Given the description of an element on the screen output the (x, y) to click on. 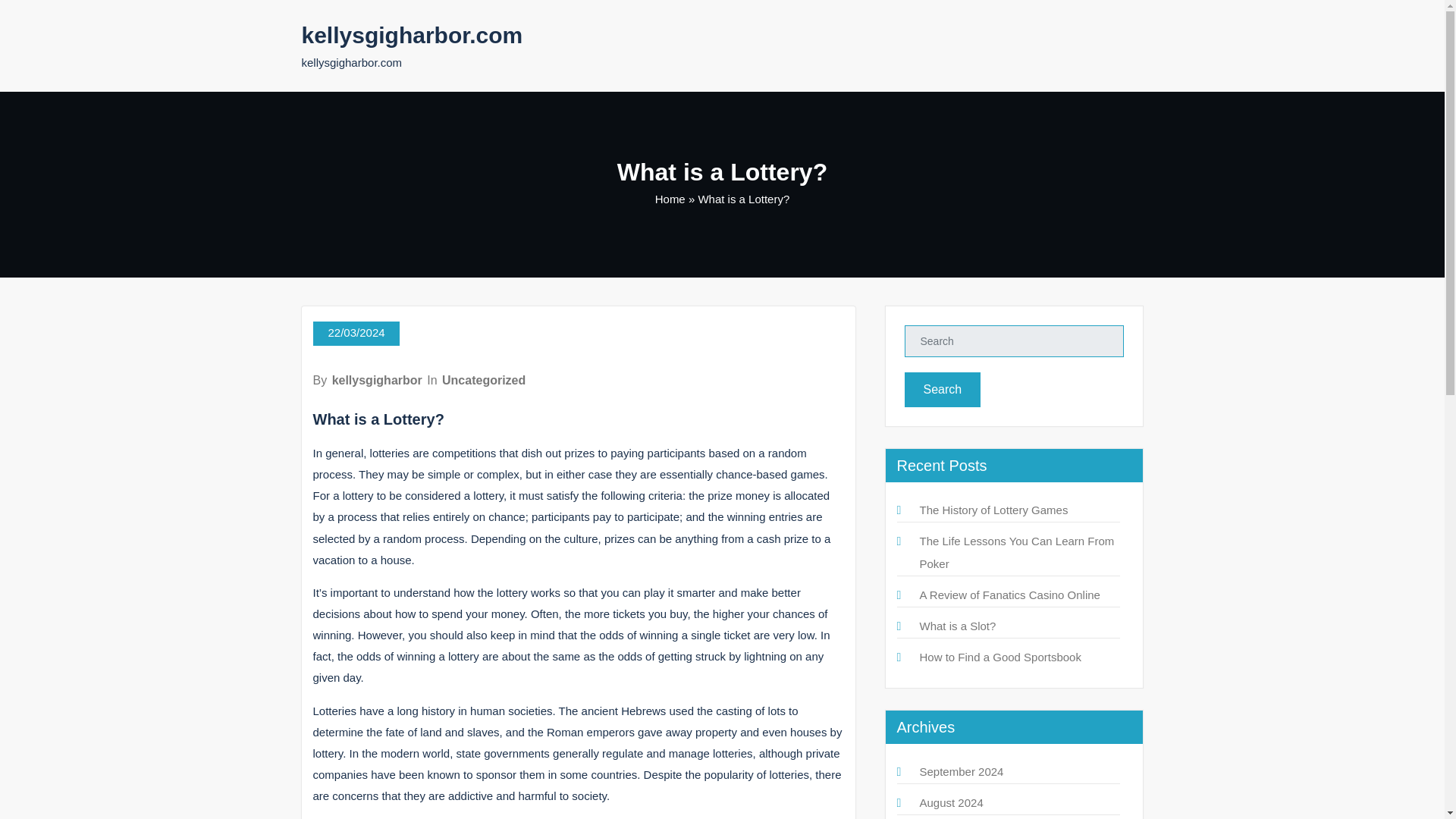
The Life Lessons You Can Learn From Poker (1015, 552)
Home (670, 198)
How to Find a Good Sportsbook (999, 656)
Uncategorized (484, 379)
August 2024 (950, 802)
The History of Lottery Games (992, 509)
September 2024 (960, 771)
Search (941, 389)
kellysgigharbor.com (411, 34)
kellysgigharbor (376, 379)
